Given the description of an element on the screen output the (x, y) to click on. 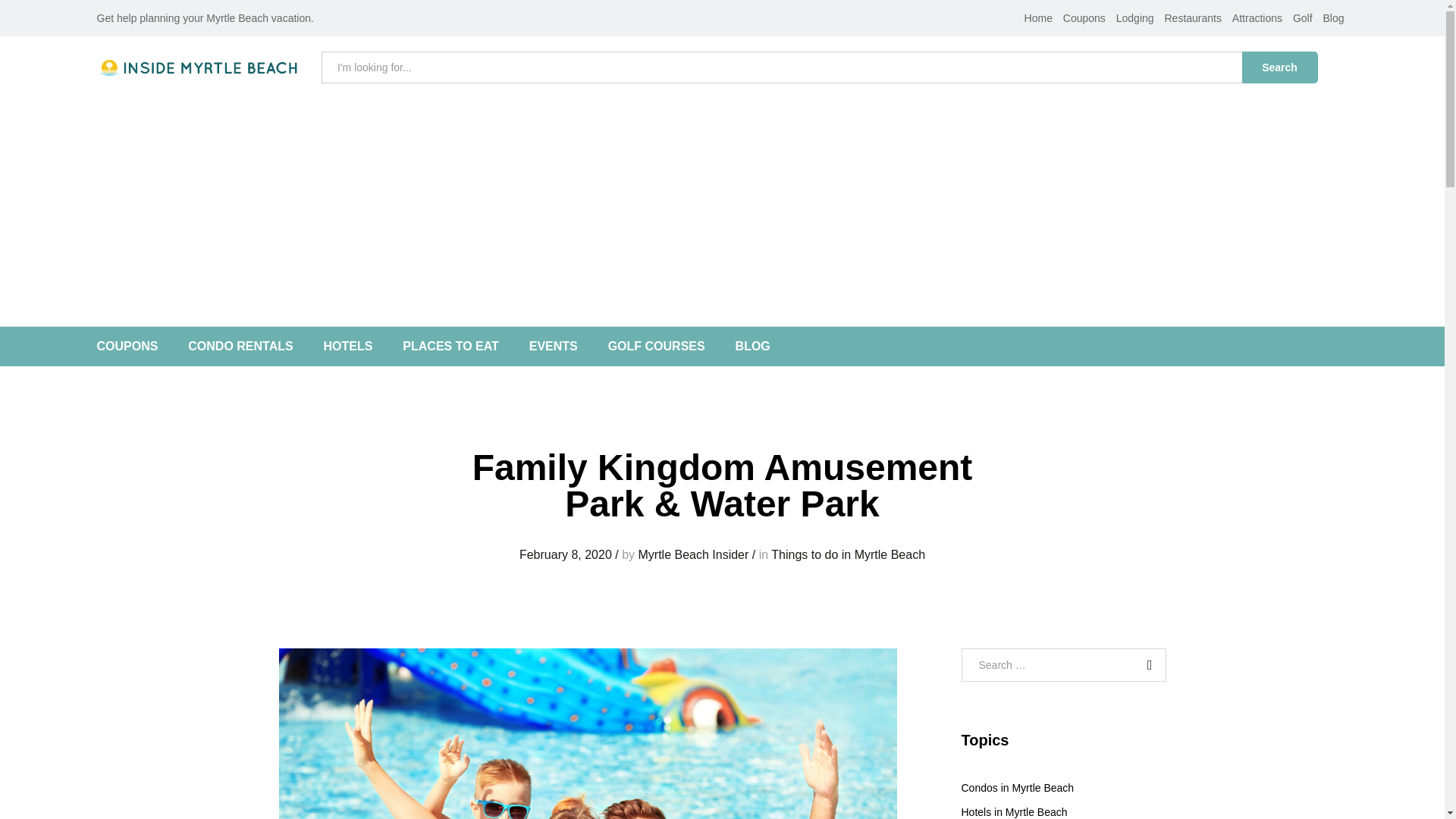
Search (1279, 67)
Coupons (1083, 18)
Restaurants (1192, 18)
EVENTS (553, 346)
PLACES TO EAT (451, 346)
February 8, 2020 (565, 554)
Lodging (1135, 18)
Blog (1332, 18)
Myrtle Beach Insider (692, 554)
Home (1038, 18)
Golf (1302, 18)
Search (1146, 665)
Search (1146, 665)
Things to do in Myrtle Beach (847, 554)
